Given the description of an element on the screen output the (x, y) to click on. 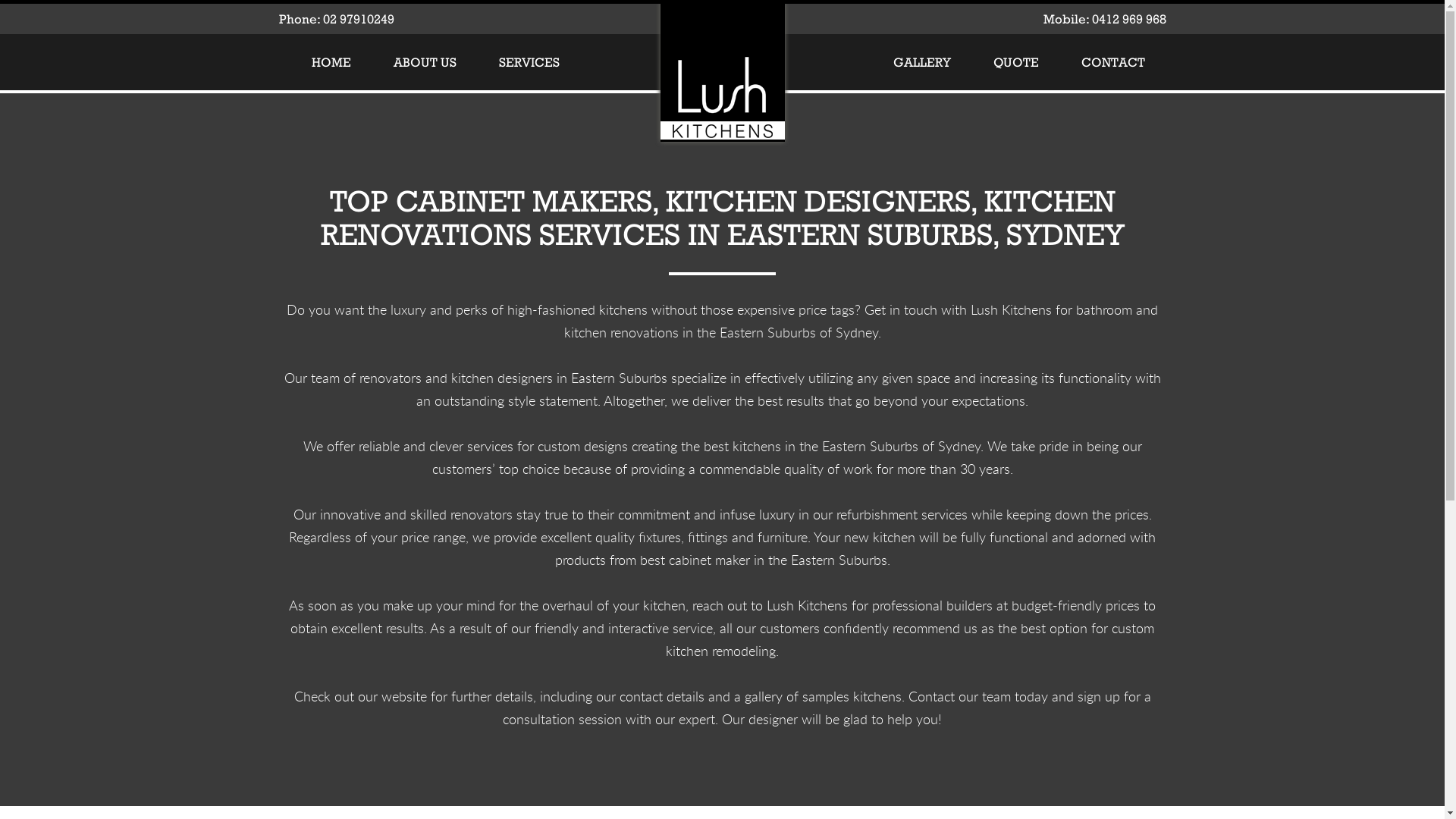
GALLERY Element type: text (922, 62)
SERVICES Element type: text (528, 62)
CONTACT Element type: text (1113, 62)
ABOUT US Element type: text (423, 62)
HOME Element type: text (330, 62)
Lush Kitchens Element type: hover (722, 73)
QUOTE Element type: text (1016, 62)
